Given the description of an element on the screen output the (x, y) to click on. 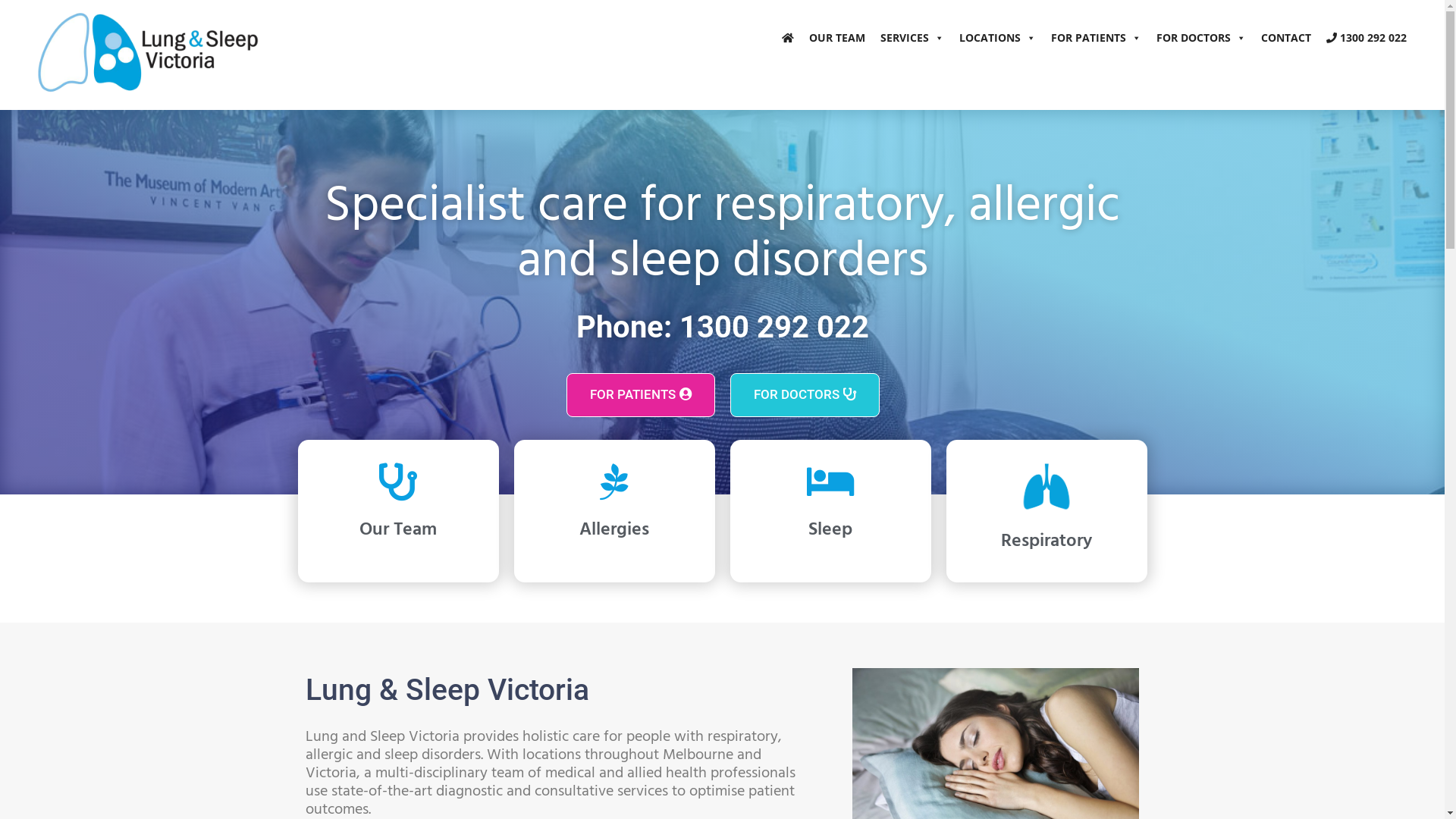
Respiratory Element type: text (1046, 541)
Sleep Element type: text (830, 529)
1300 292 022 Element type: text (1366, 37)
LOCATIONS Element type: text (997, 37)
FOR DOCTORS Element type: text (803, 395)
CONTACT Element type: text (1285, 37)
FOR PATIENTS Element type: text (1095, 37)
OUR TEAM Element type: text (836, 37)
SERVICES Element type: text (911, 37)
FOR DOCTORS Element type: text (1200, 37)
Allergies Element type: text (614, 529)
FOR PATIENTS Element type: text (639, 395)
Our Team Element type: text (397, 529)
